Given the description of an element on the screen output the (x, y) to click on. 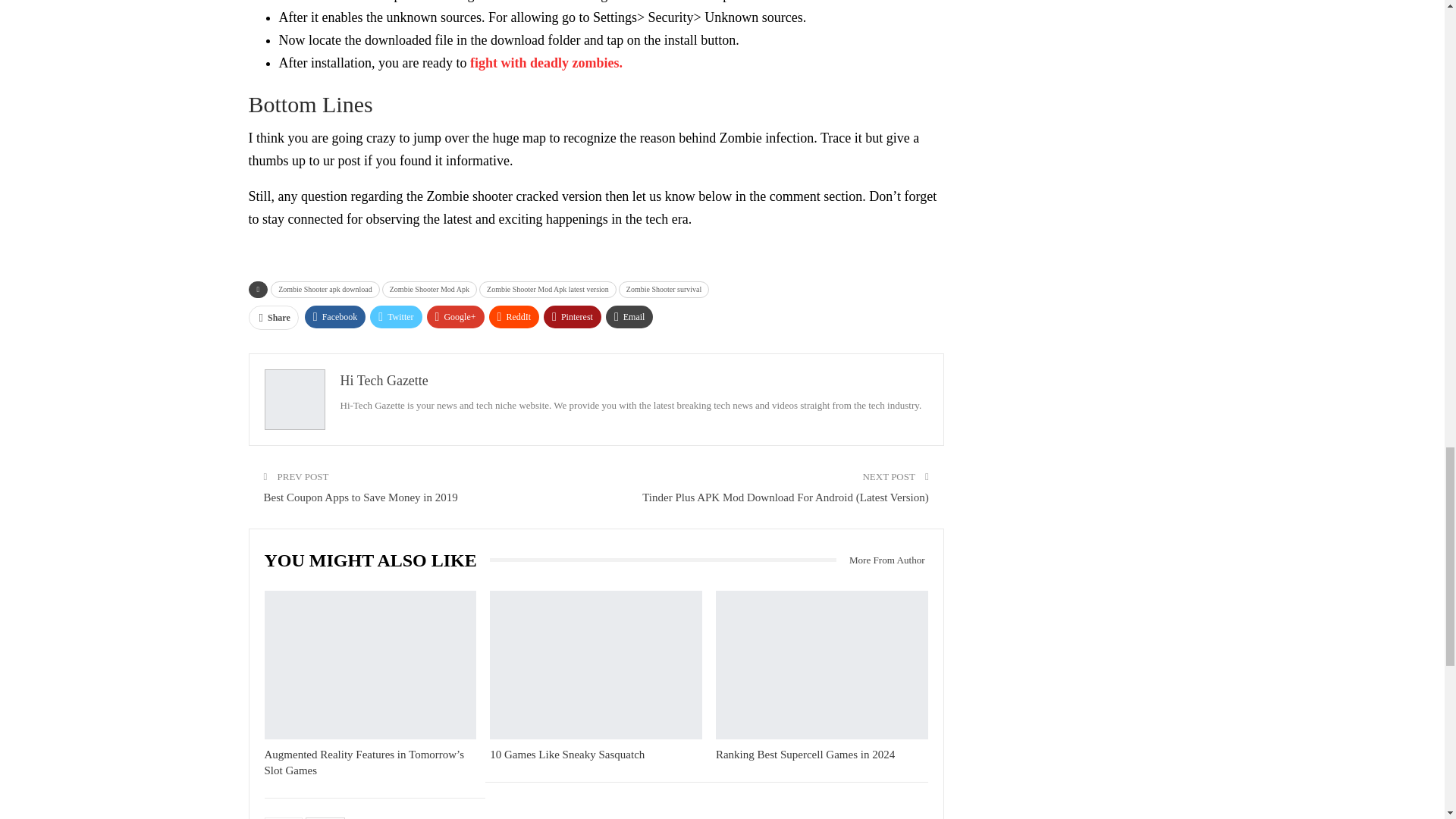
10 Games Like Sneaky Sasquatch (595, 664)
10 Games Like Sneaky Sasquatch (567, 754)
Ranking Best Supercell Games in 2024 (805, 754)
Previous (282, 818)
Ranking Best Supercell Games in 2024 (822, 664)
